Given the description of an element on the screen output the (x, y) to click on. 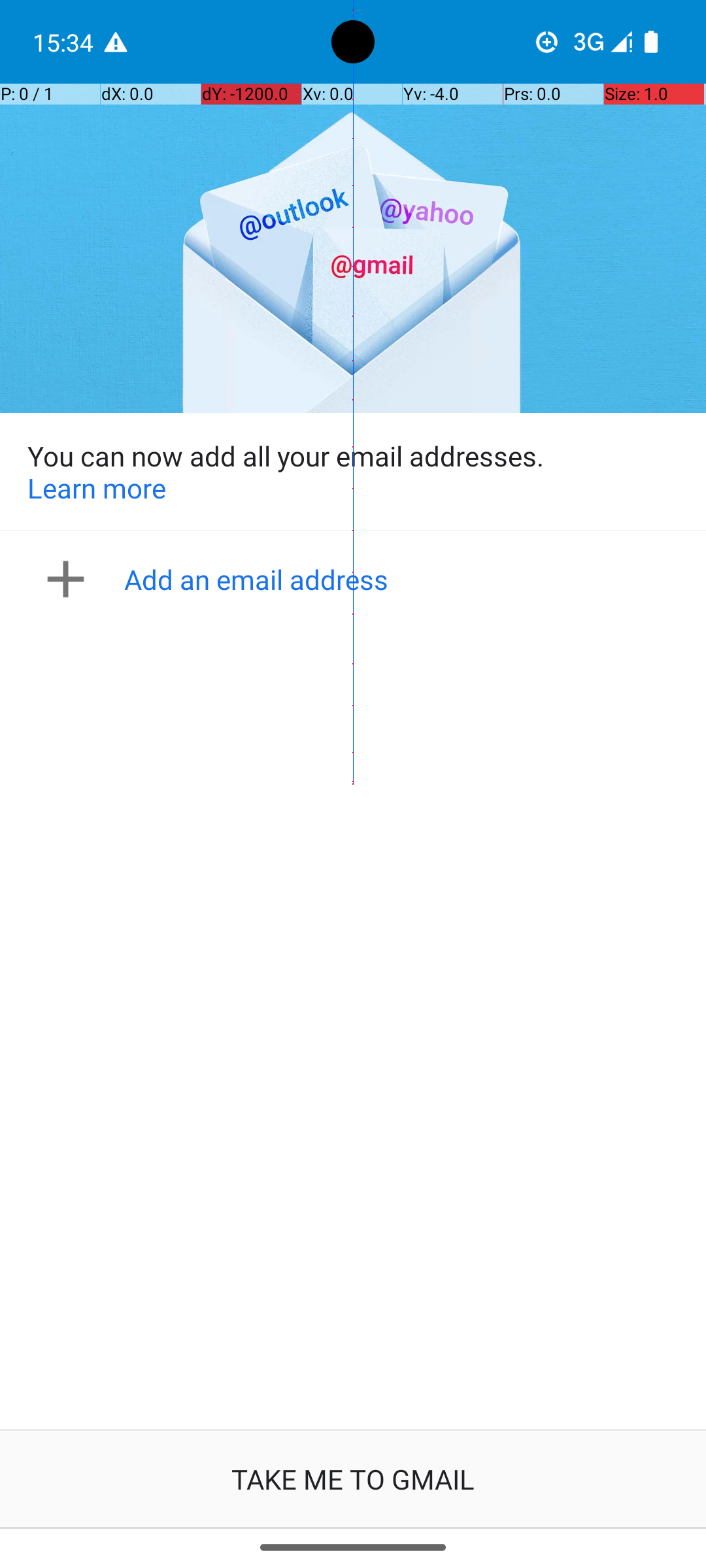
You can now add all your email addresses. Learn more Element type: android.widget.TextView (352, 471)
TAKE ME TO GMAIL Element type: android.widget.TextView (353, 1478)
Add an email address Element type: android.widget.TextView (356, 579)
